Given the description of an element on the screen output the (x, y) to click on. 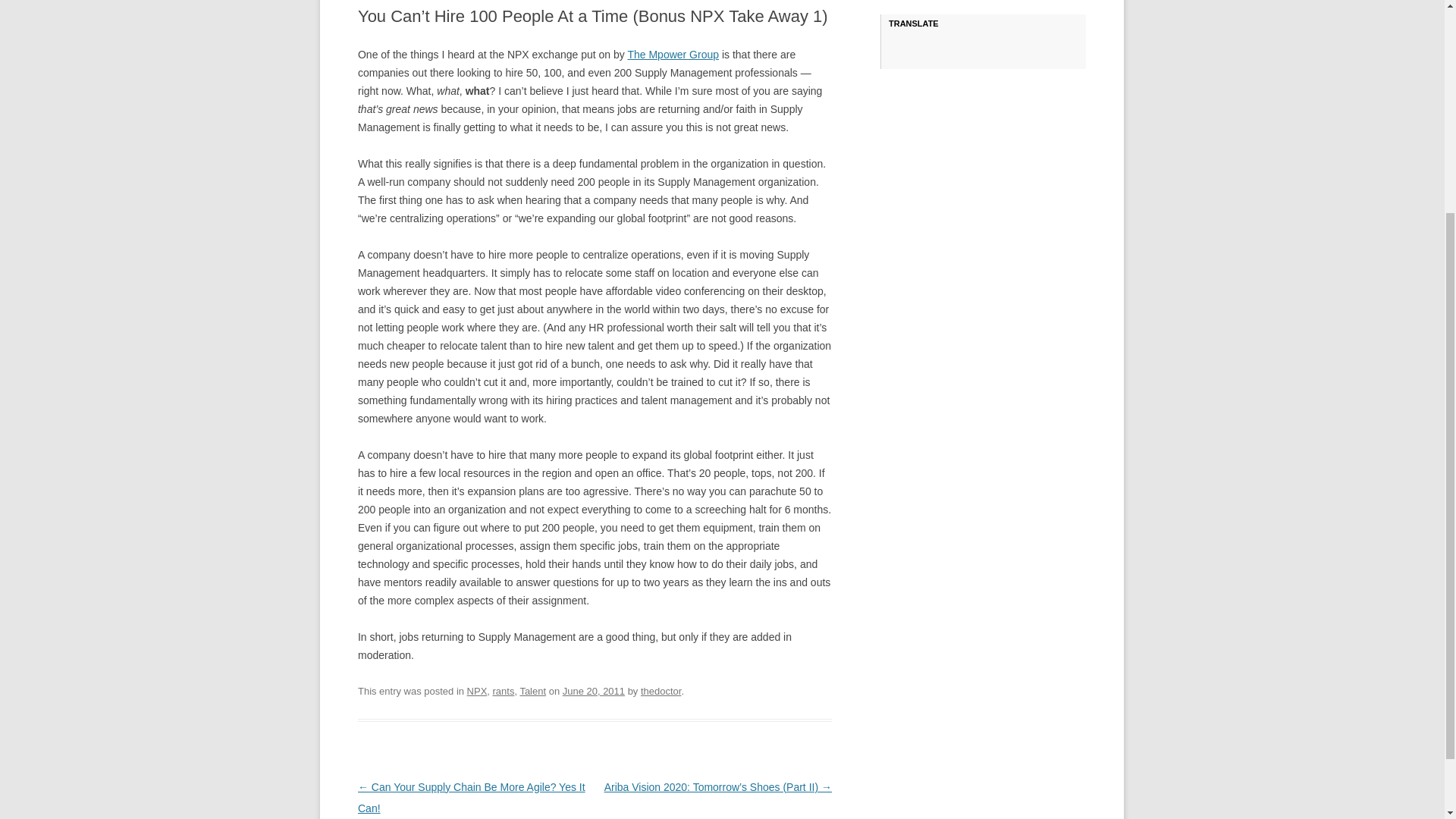
June 20, 2011 (593, 690)
rants (504, 690)
NPX (477, 690)
thedoctor (660, 690)
The Mpower Group (673, 54)
10:00 am (593, 690)
View all posts by thedoctor (660, 690)
Talent (532, 690)
